Given the description of an element on the screen output the (x, y) to click on. 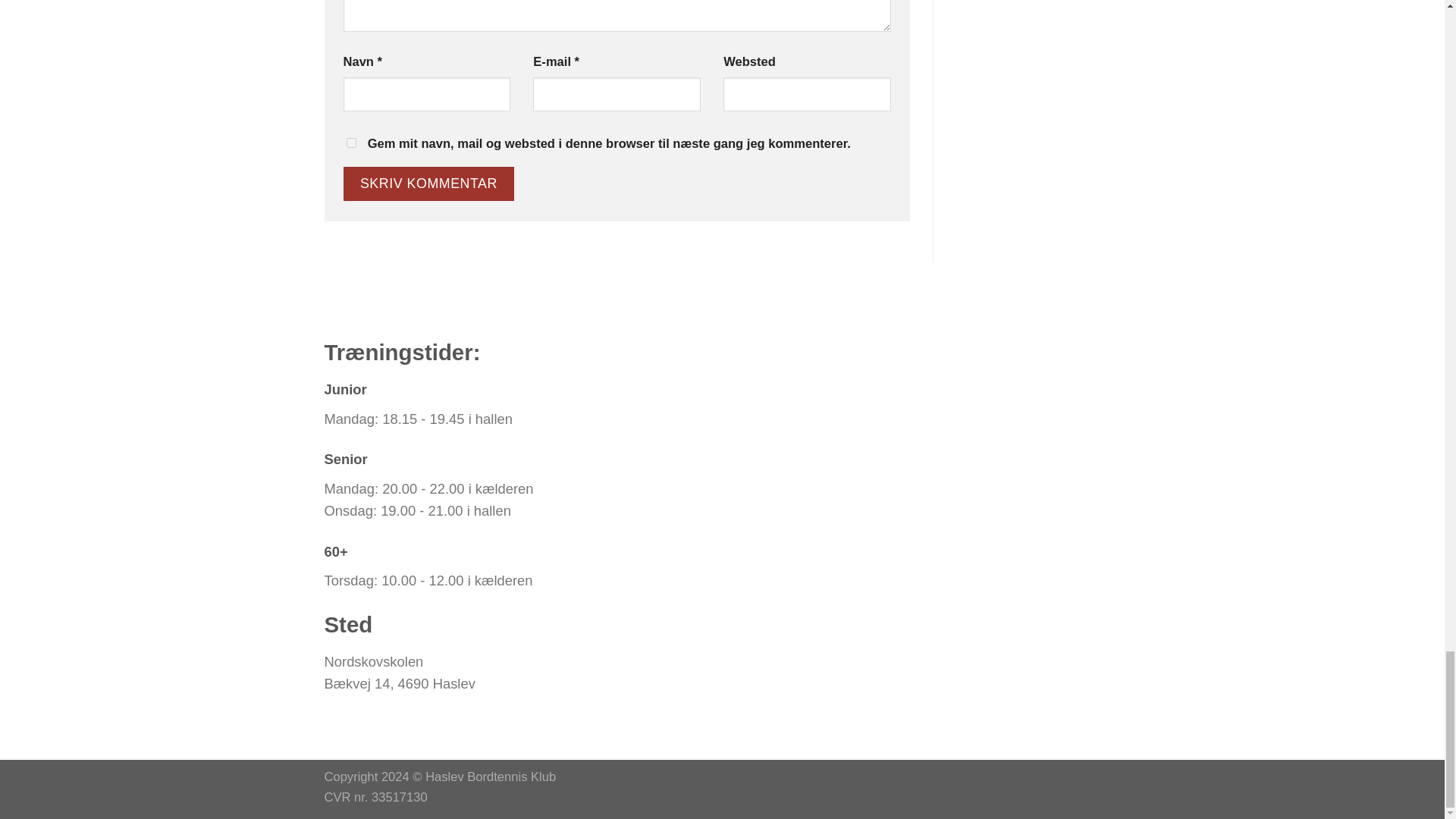
Skriv kommentar (427, 183)
Skriv kommentar (427, 183)
yes (350, 143)
